Given the description of an element on the screen output the (x, y) to click on. 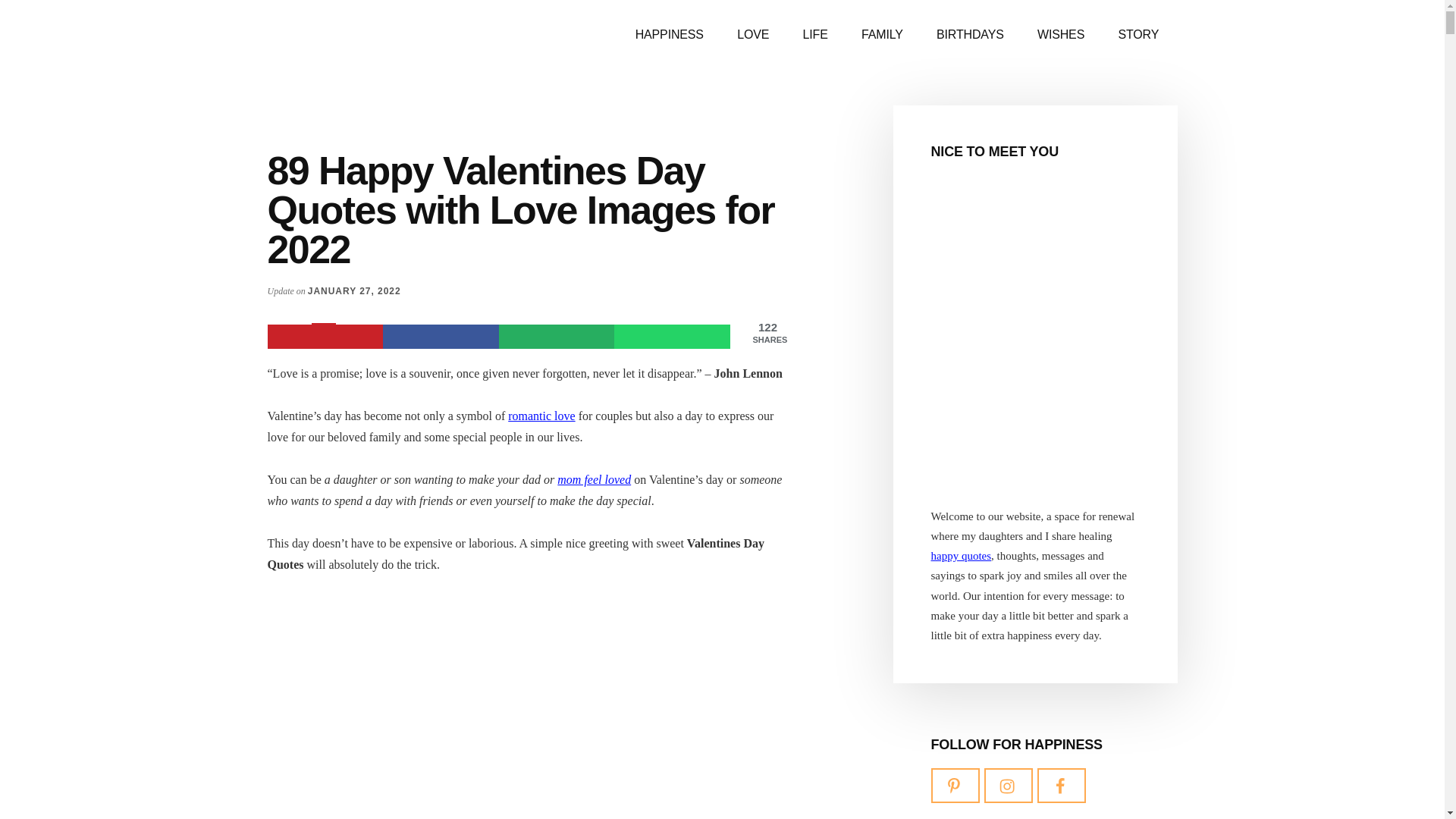
Save to Pinterest (324, 336)
Share on WhatsApp (672, 336)
WISHES (1060, 34)
BIRTHDAYS (970, 34)
LOVE (753, 34)
Send over email (556, 336)
Share on Facebook (440, 336)
FAMILY (881, 34)
HAPPINESS (669, 34)
LIFE (815, 34)
89 Happy Valentines Day Quotes with Love Images for 2022 87 (524, 708)
STORY (1137, 34)
